Given the description of an element on the screen output the (x, y) to click on. 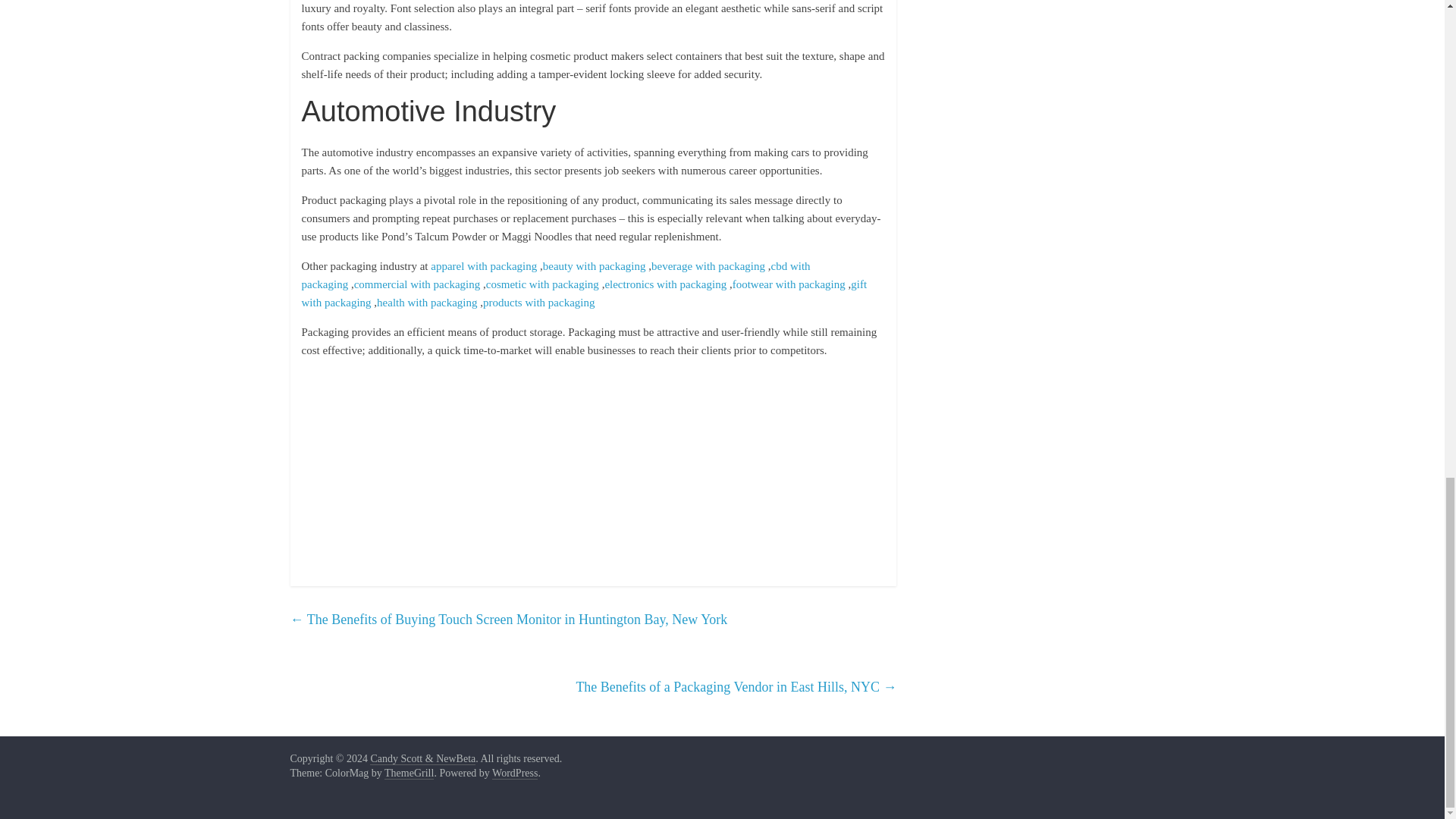
health with packaging (427, 302)
commercial with packaging (416, 284)
beauty with packaging (594, 265)
electronics with packaging (665, 284)
WordPress (514, 773)
gift with packaging (584, 293)
ThemeGrill (408, 773)
products with packaging (538, 302)
beverage with packaging (707, 265)
cbd with packaging (555, 275)
